Given the description of an element on the screen output the (x, y) to click on. 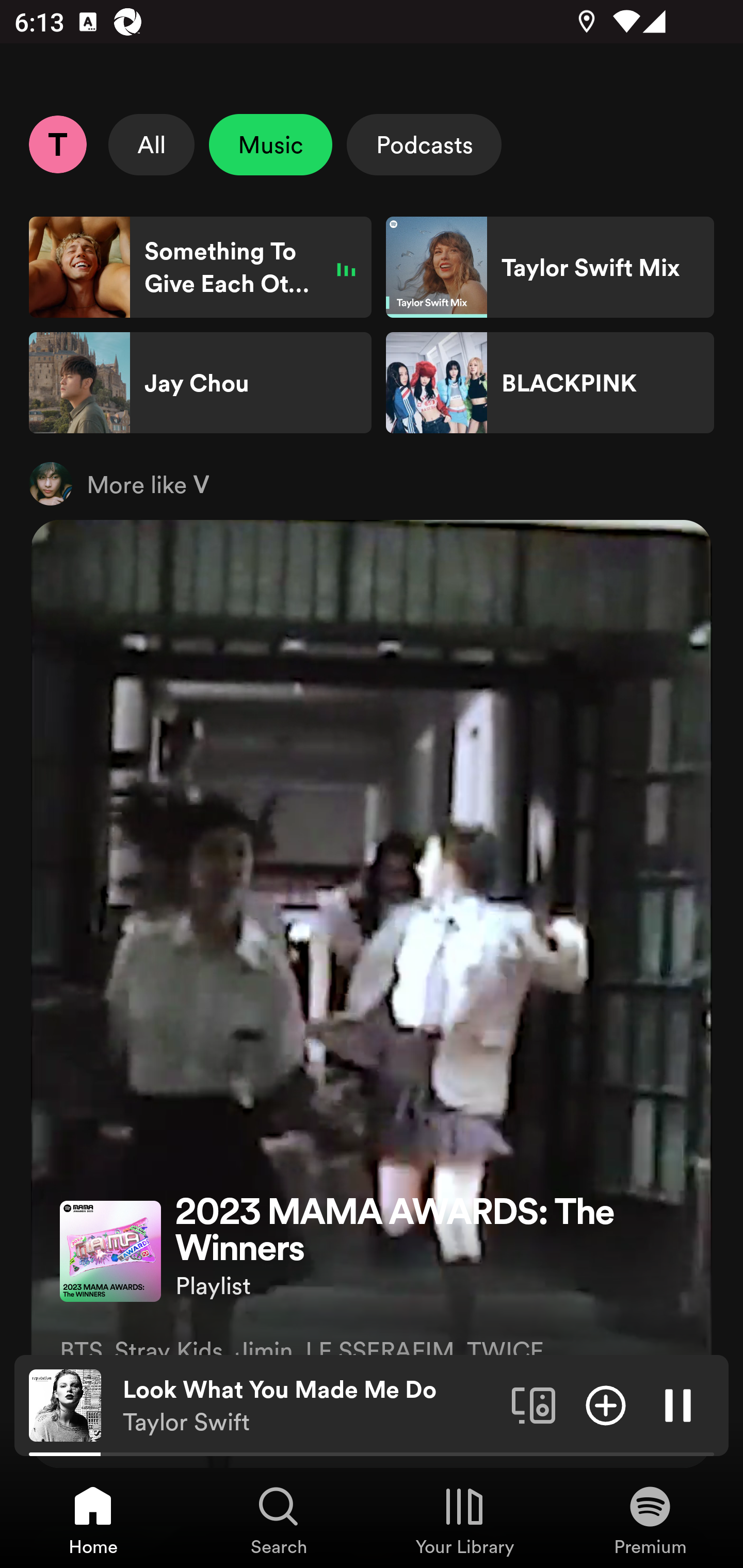
Profile (57, 144)
All Select All (151, 144)
Music Unselect Music (270, 144)
Podcasts Select Podcasts (423, 144)
Taylor Swift Mix Shortcut Taylor Swift Mix (549, 267)
Jay Chou Shortcut Jay Chou (199, 382)
BLACKPINK Shortcut BLACKPINK (549, 382)
More like V (371, 483)
Look What You Made Me Do Taylor Swift (309, 1405)
The cover art of the currently playing track (64, 1404)
Connect to a device. Opens the devices menu (533, 1404)
Add item (605, 1404)
Pause (677, 1404)
Home, Tab 1 of 4 Home Home (92, 1519)
Search, Tab 2 of 4 Search Search (278, 1519)
Your Library, Tab 3 of 4 Your Library Your Library (464, 1519)
Premium, Tab 4 of 4 Premium Premium (650, 1519)
